Given the description of an element on the screen output the (x, y) to click on. 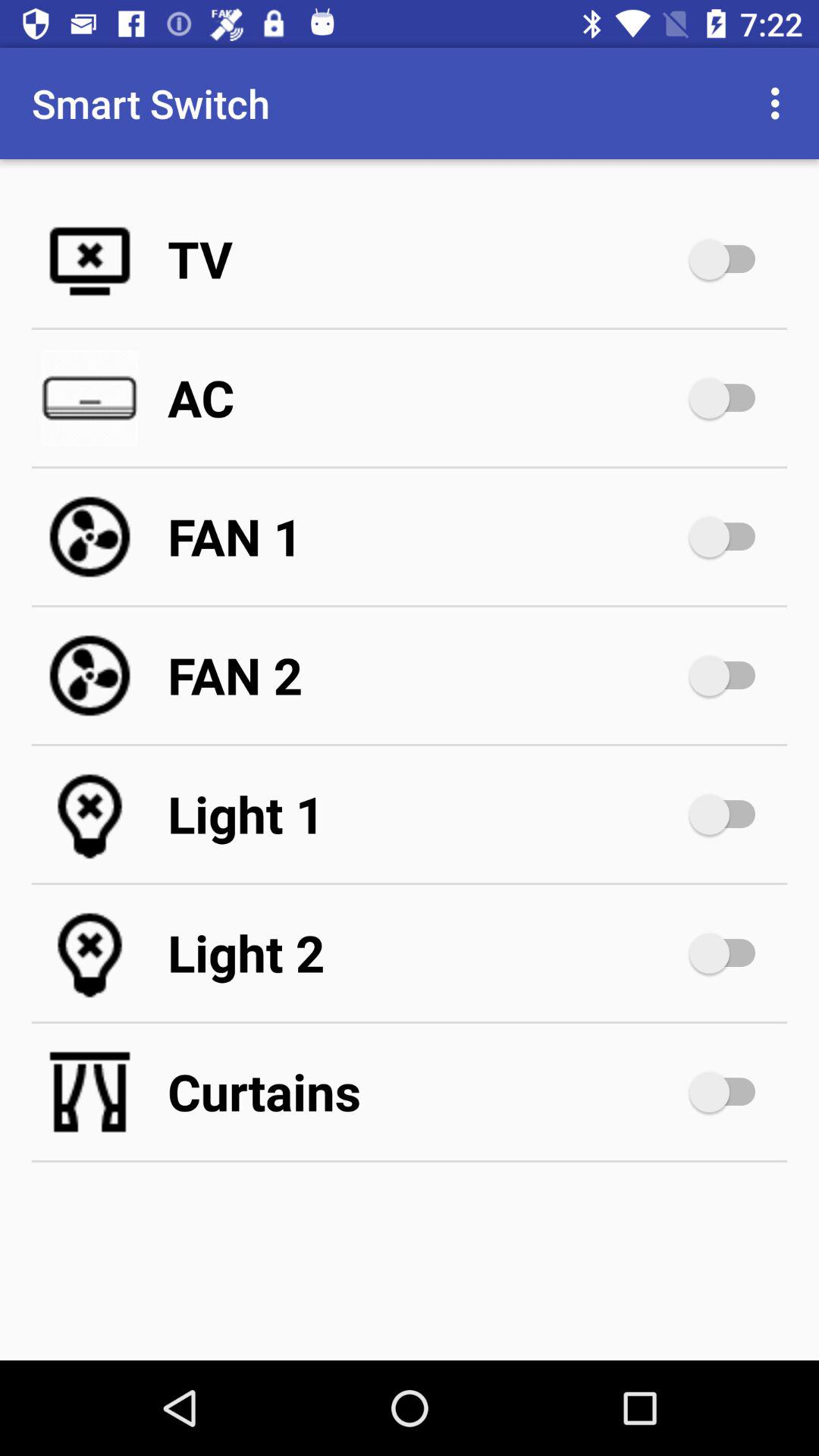
toggle fan 2 (729, 675)
